Given the description of an element on the screen output the (x, y) to click on. 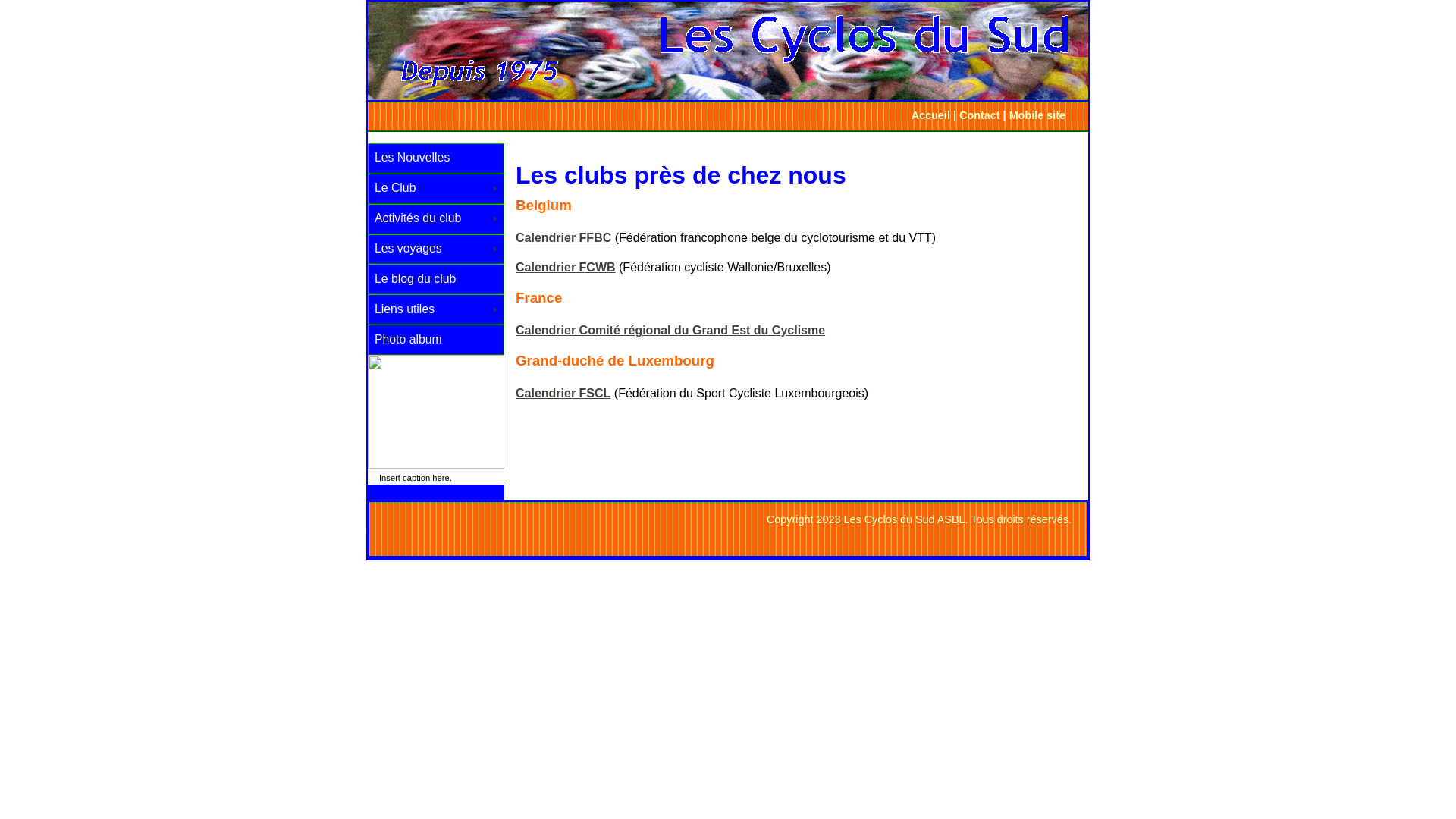
Liens utiles Element type: text (435, 309)
Contact Element type: text (979, 115)
Les voyages Element type: text (435, 248)
Mobile site Element type: text (1037, 115)
Le blog du club Element type: text (435, 278)
Accueil Element type: text (930, 115)
Calendrier FCWB Element type: text (565, 266)
Le Club Element type: text (435, 188)
Calendrier FSCL Element type: text (562, 392)
Les Nouvelles Element type: text (435, 158)
Calendrier FFBC Element type: text (563, 237)
Photo album Element type: text (435, 339)
